Given the description of an element on the screen output the (x, y) to click on. 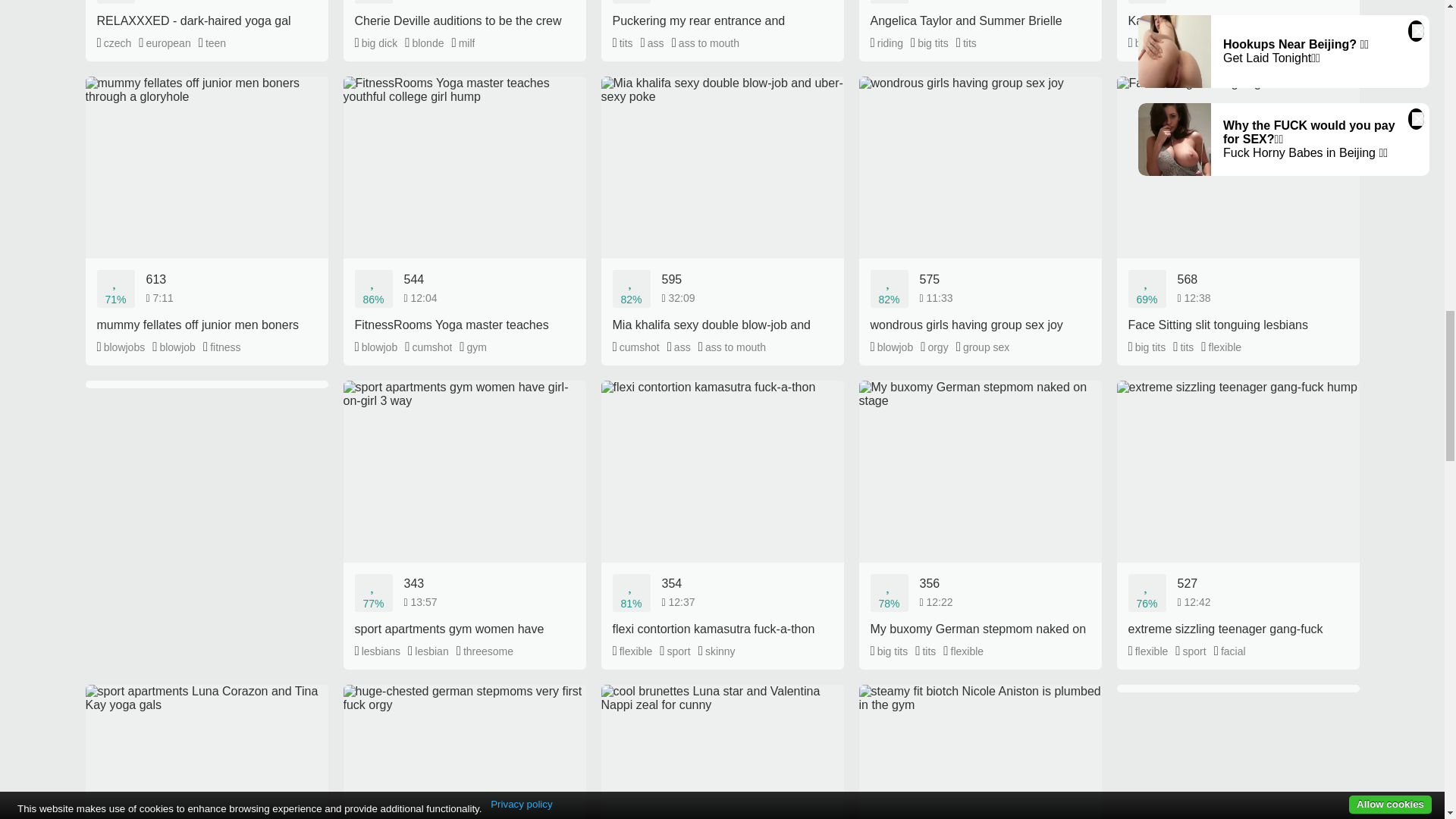
tits (966, 43)
blowjob (1150, 43)
big dick (376, 43)
milf (462, 43)
RELAXXXED - dark-haired yoga gal drills (205, 14)
teen (211, 43)
big tits (930, 43)
Cherie Deville auditions to be the crew (463, 14)
riding (886, 43)
blonde (424, 43)
flexible (1197, 43)
tits (622, 43)
Angelica Taylor and Summer Brielle (979, 14)
Puckering my rear entrance and spanking (721, 14)
czech (114, 43)
